Given the description of an element on the screen output the (x, y) to click on. 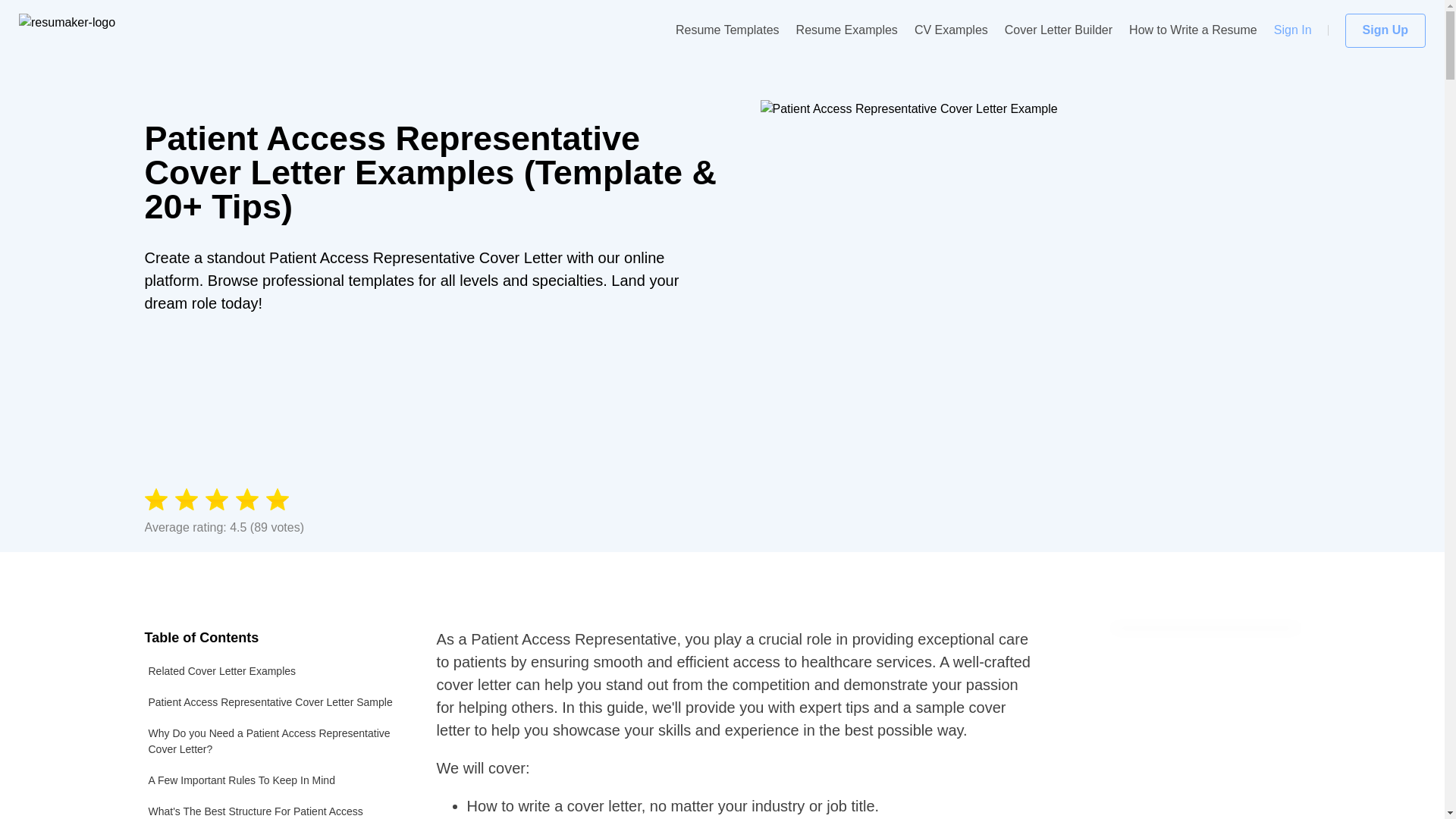
Cover Letter Builder (1058, 30)
CV Examples (951, 30)
Resume Examples (847, 30)
Related Cover Letter Examples (270, 671)
A Few Important Rules To Keep In Mind (270, 780)
Resume Templates (726, 30)
How to Write a Resume (1193, 30)
Patient Access Representative Cover Letter Sample (270, 702)
